Given the description of an element on the screen output the (x, y) to click on. 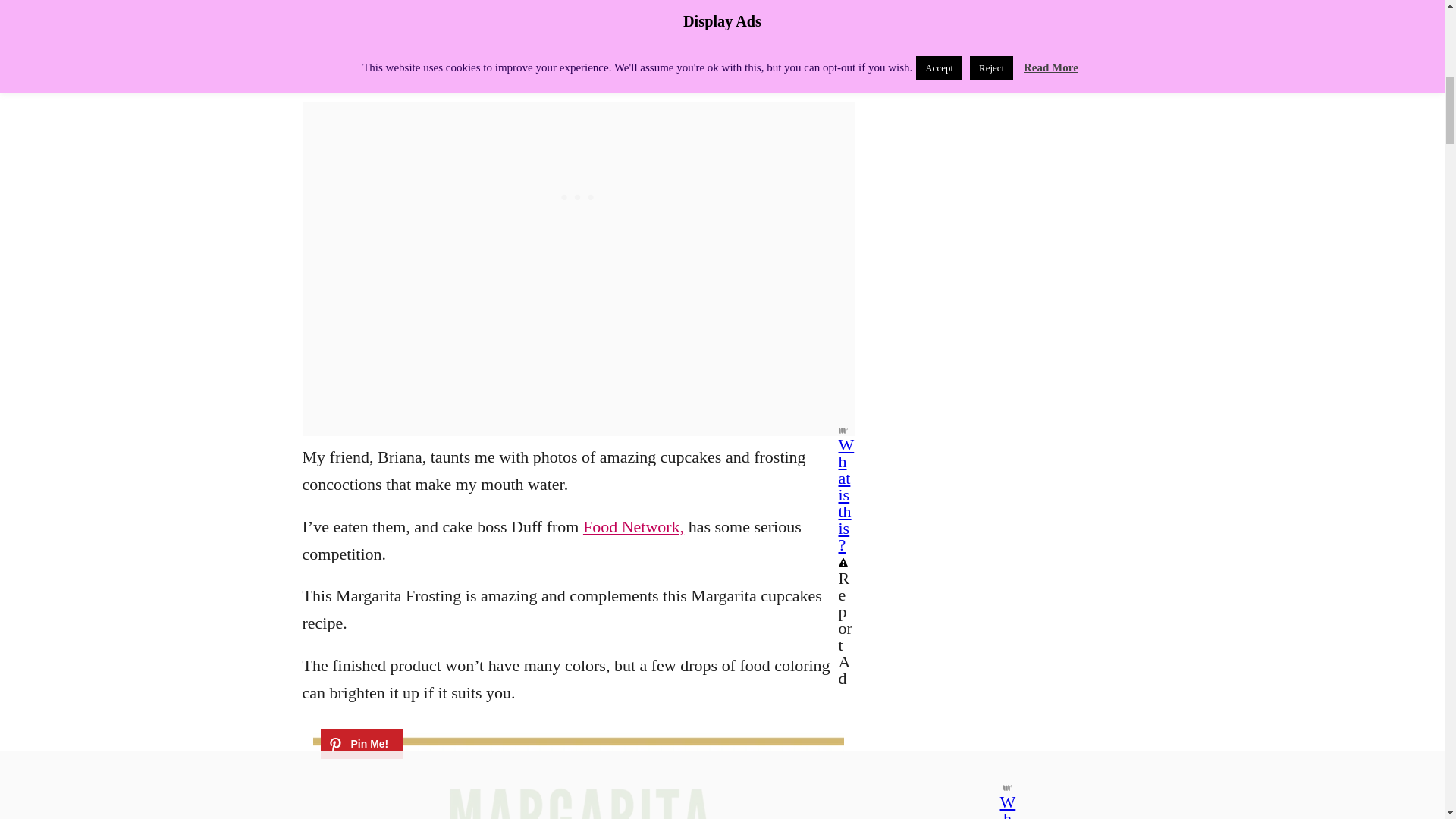
Food Network, (633, 526)
Pin Me! (361, 743)
3rd party ad content (577, 196)
